Given the description of an element on the screen output the (x, y) to click on. 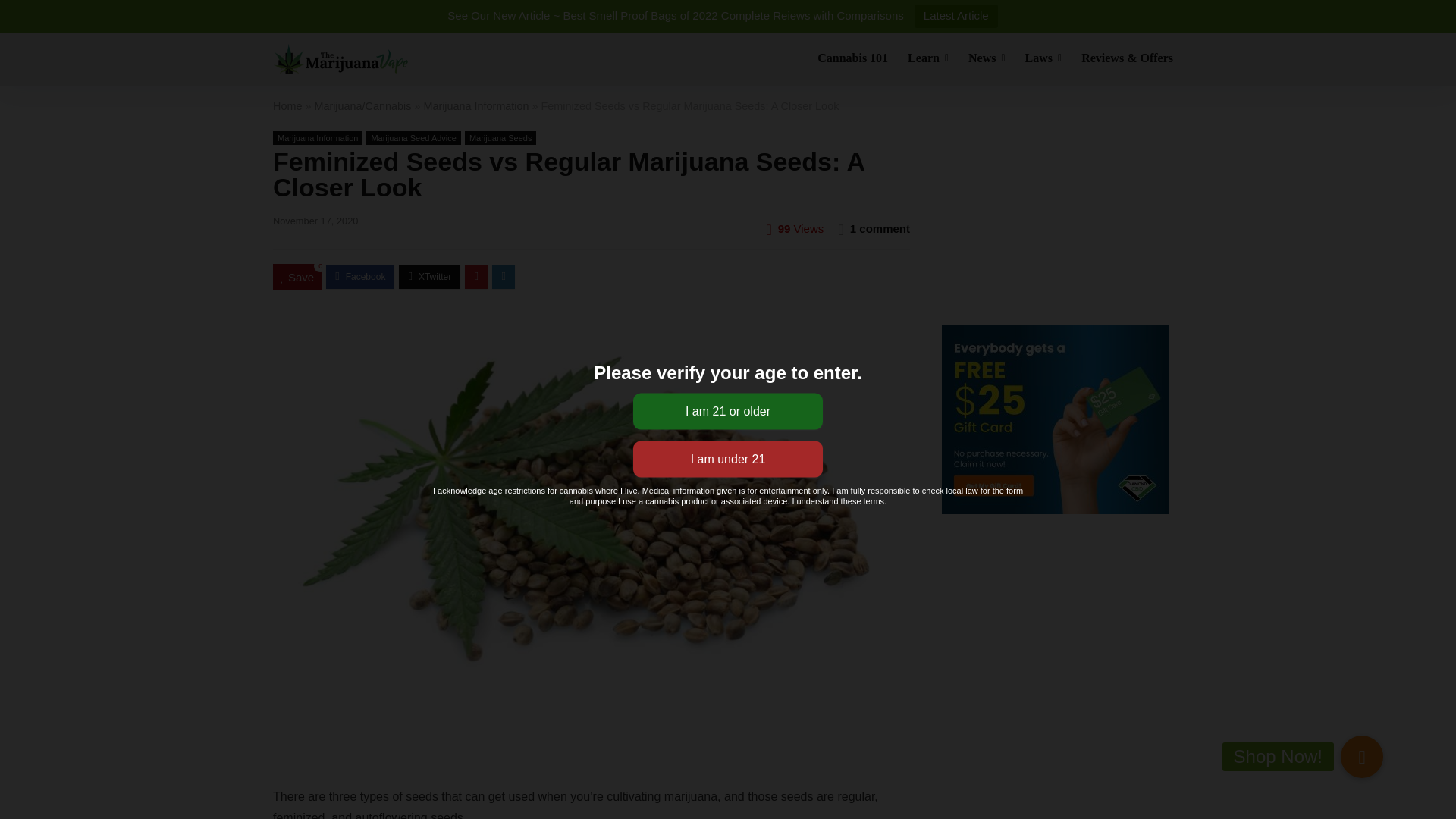
Learn (928, 59)
I am under 21 (727, 459)
View all posts in Marijuana Seeds (500, 137)
I am 21 or older (727, 411)
Latest Article (955, 15)
Cannabis 101 (853, 59)
View all posts in Marijuana Information (317, 137)
View all posts in Marijuana Seed Advice (413, 137)
